Given the description of an element on the screen output the (x, y) to click on. 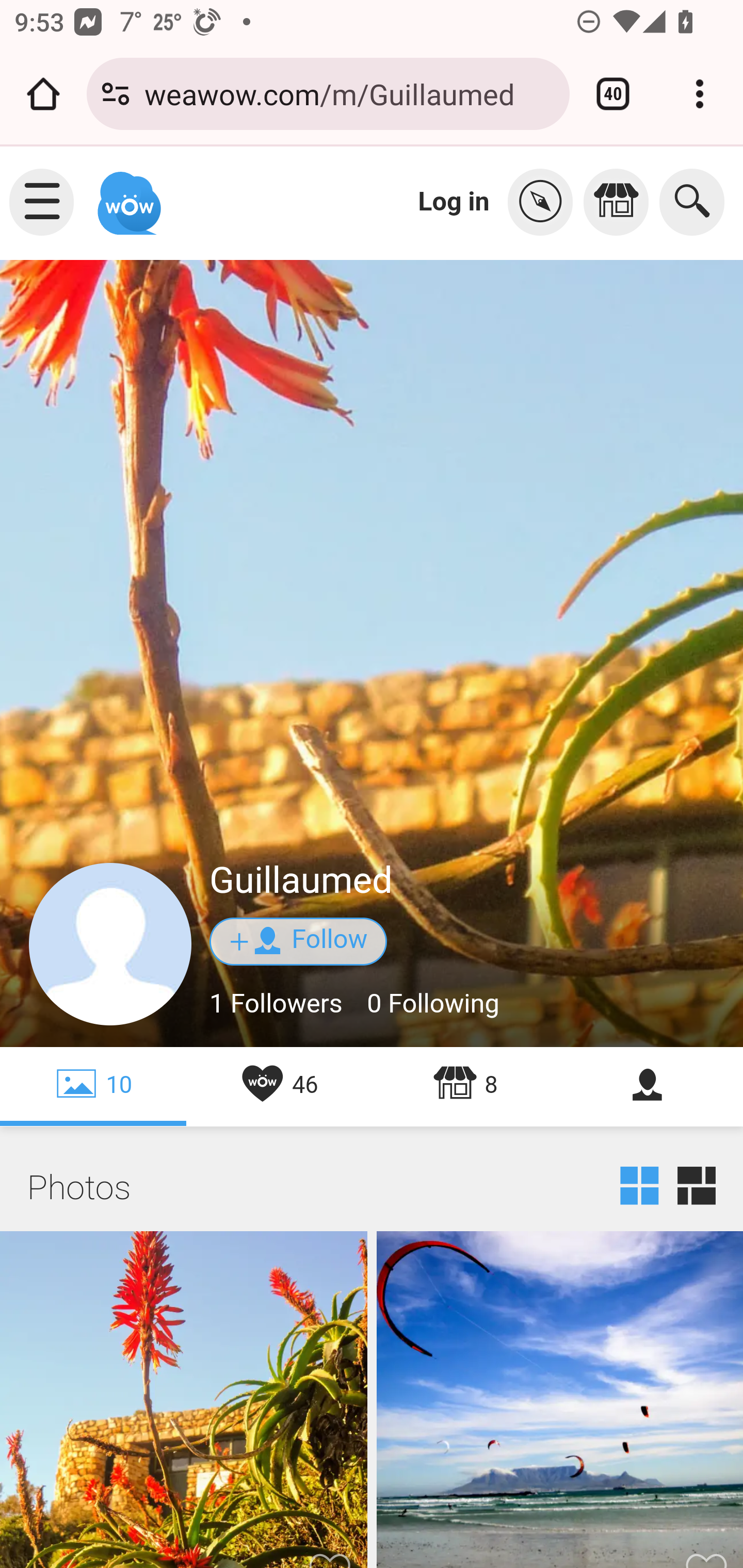
Open the home page (43, 93)
Connection is secure (115, 93)
Switch or close tabs (612, 93)
Customize and control Google Chrome (699, 93)
weawow.com/m/Guillaumed (349, 92)
Weawow (127, 194)
 (545, 201)
 (621, 201)
Log in (453, 201)
facesample (110, 944)
Guillaumed (301, 881)
1 Followers 1  Followers (276, 1004)
0 Following 0  Following (433, 1004)
 10  10 (93, 1086)
 46  46 (278, 1086)
 8  8 (465, 1086)
 (649, 1086)
